Given the description of an element on the screen output the (x, y) to click on. 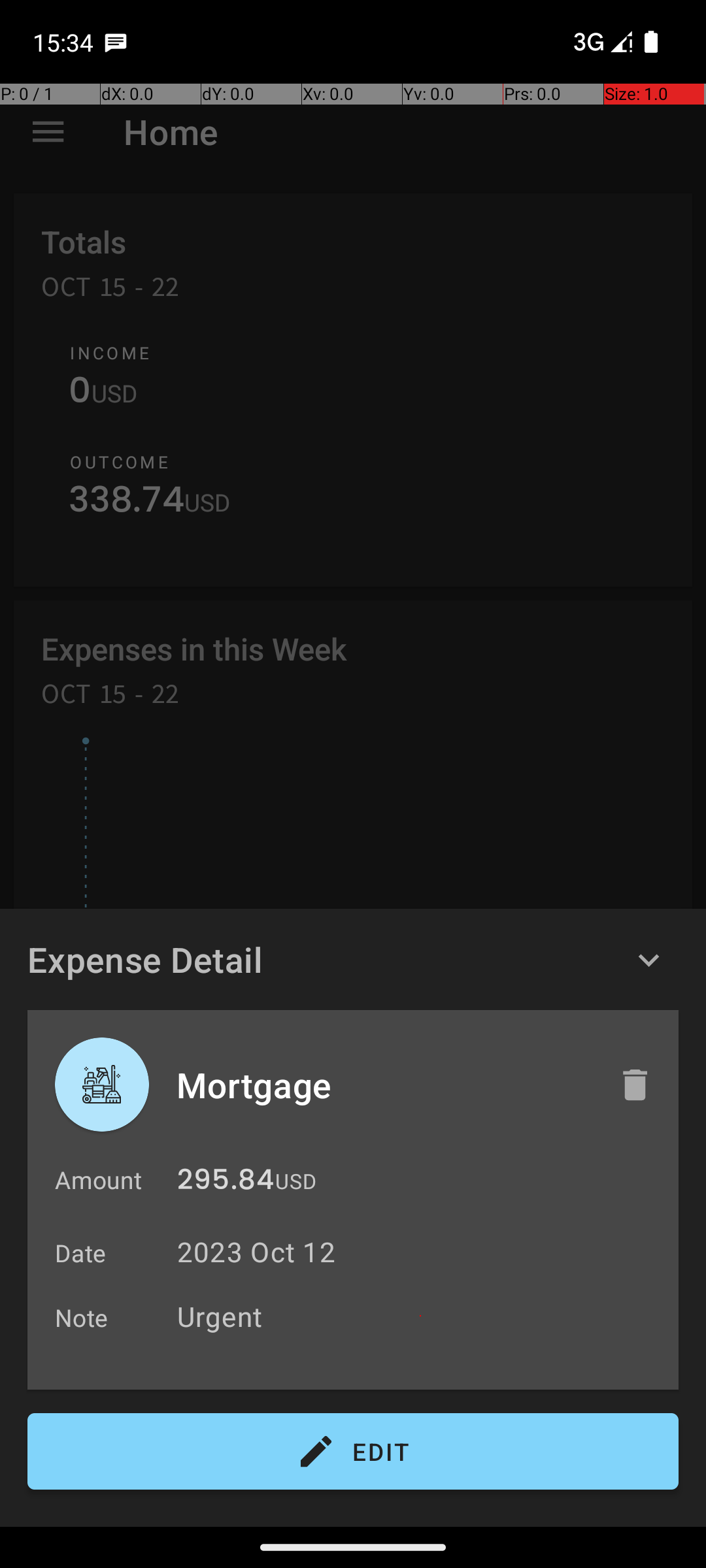
Expense Detail Element type: android.widget.TextView (145, 959)
Mortgage Element type: android.widget.TextView (383, 1084)
Amount Element type: android.widget.TextView (97, 1179)
295.84 Element type: android.widget.TextView (225, 1182)
Date Element type: android.widget.TextView (80, 1252)
2023 Oct 12 Element type: android.widget.TextView (256, 1251)
Note Element type: android.widget.TextView (81, 1317)
Urgent Element type: android.widget.TextView (420, 1315)
EDIT Element type: android.widget.Button (352, 1451)
